Given the description of an element on the screen output the (x, y) to click on. 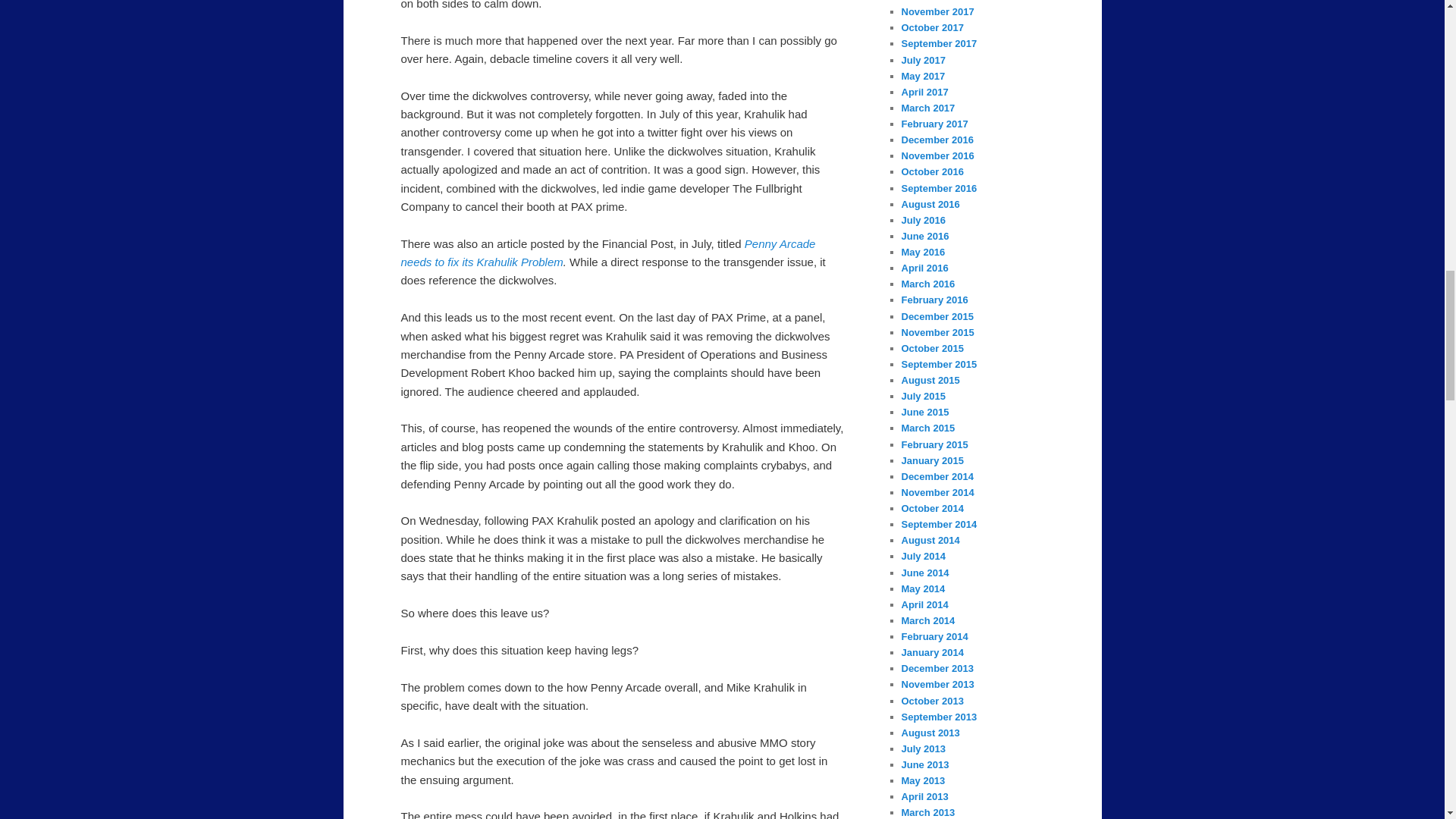
Penny Arcade needs to fix its Krahulik Problem (607, 252)
